Given the description of an element on the screen output the (x, y) to click on. 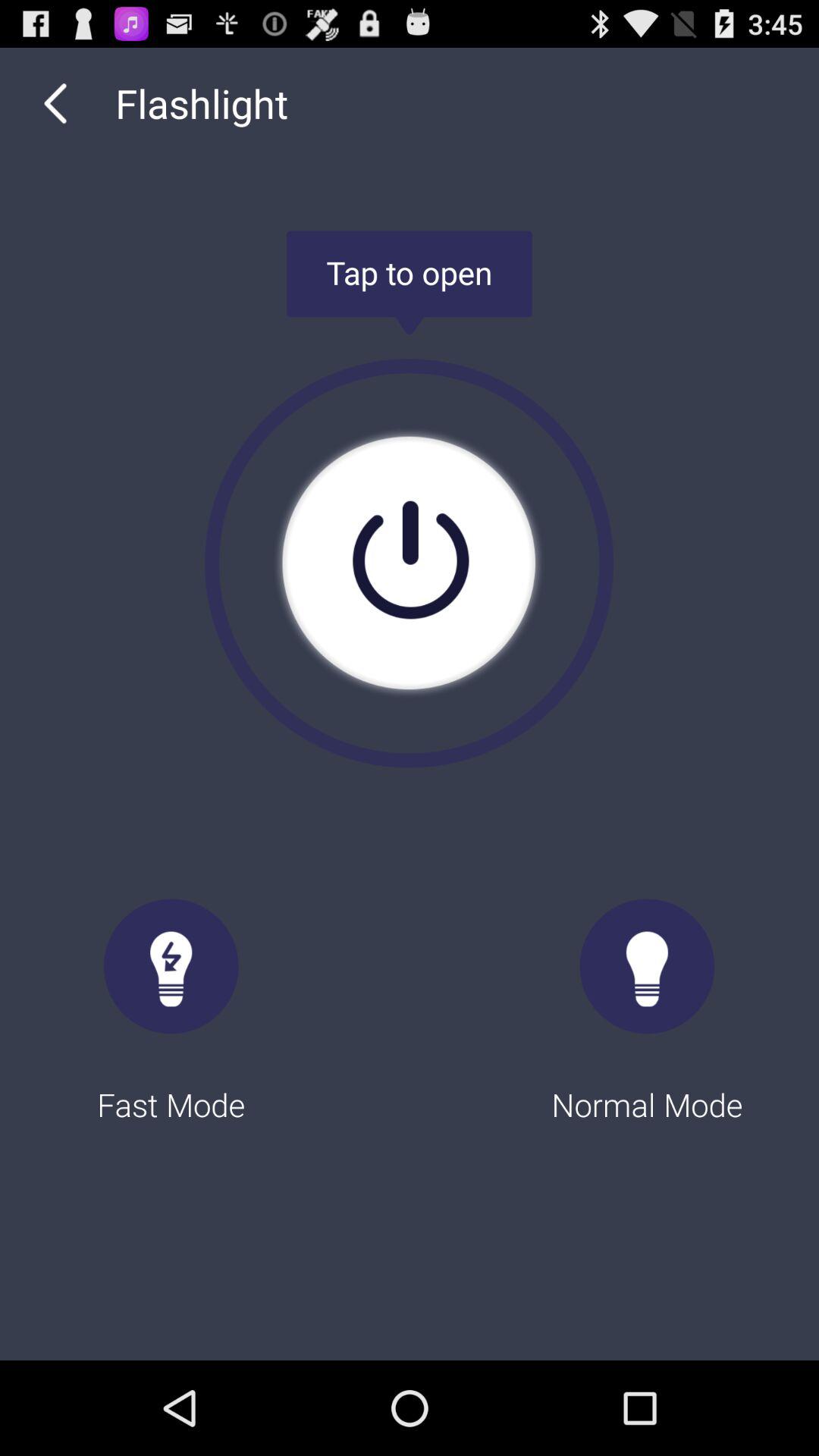
turn off app next to flashlight icon (55, 103)
